Given the description of an element on the screen output the (x, y) to click on. 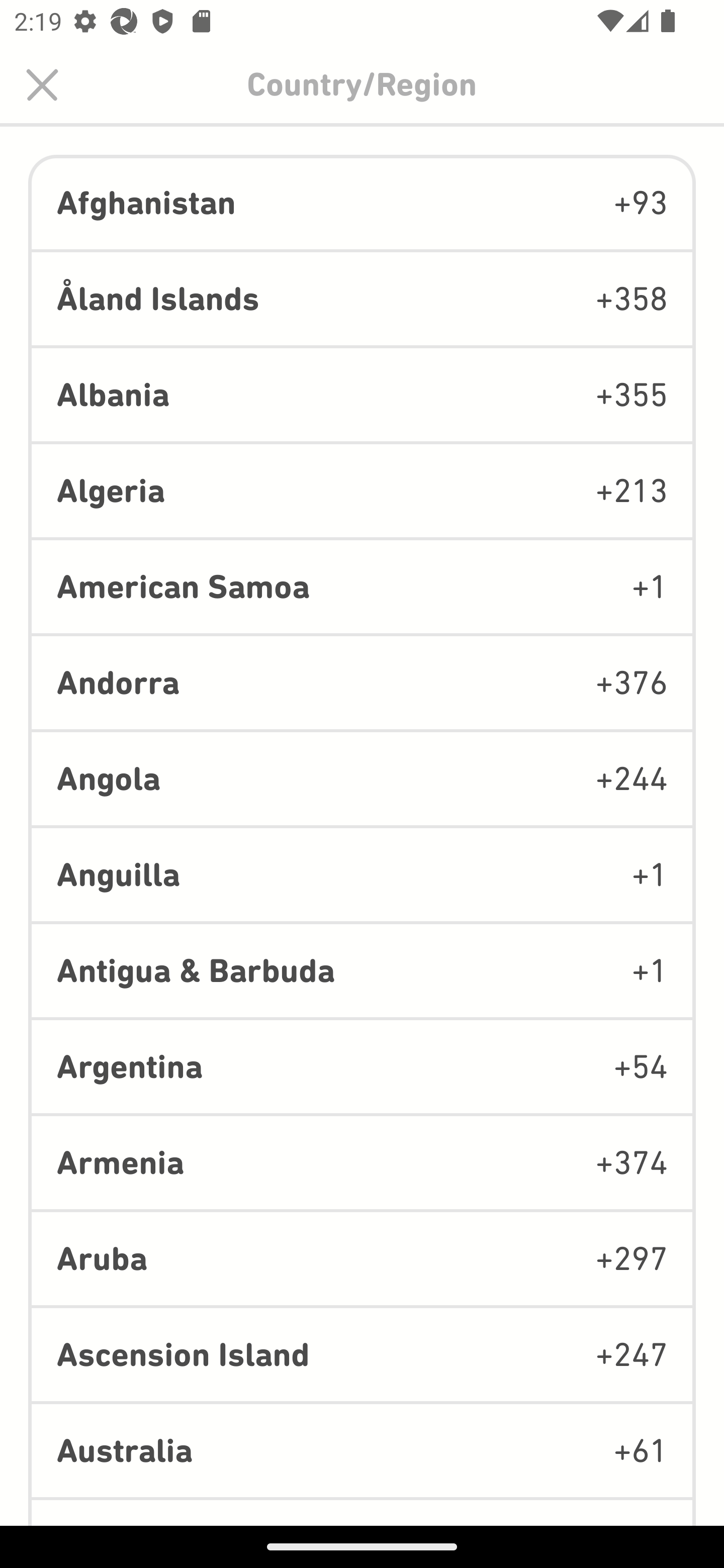
Close Page (41, 84)
Afghanistan +93 (361, 202)
Åland Islands +358 (361, 298)
Albania +355 (361, 394)
Algeria +213 (361, 490)
American Samoa +1 (361, 587)
Andorra +376 (361, 682)
Angola +244 (361, 778)
Anguilla +1 (361, 873)
Antigua & Barbuda +1 (361, 970)
Argentina +54 (361, 1066)
Armenia +374 (361, 1162)
Aruba +297 (361, 1258)
Ascension Island +247 (361, 1354)
Australia +61 (361, 1451)
